Given the description of an element on the screen output the (x, y) to click on. 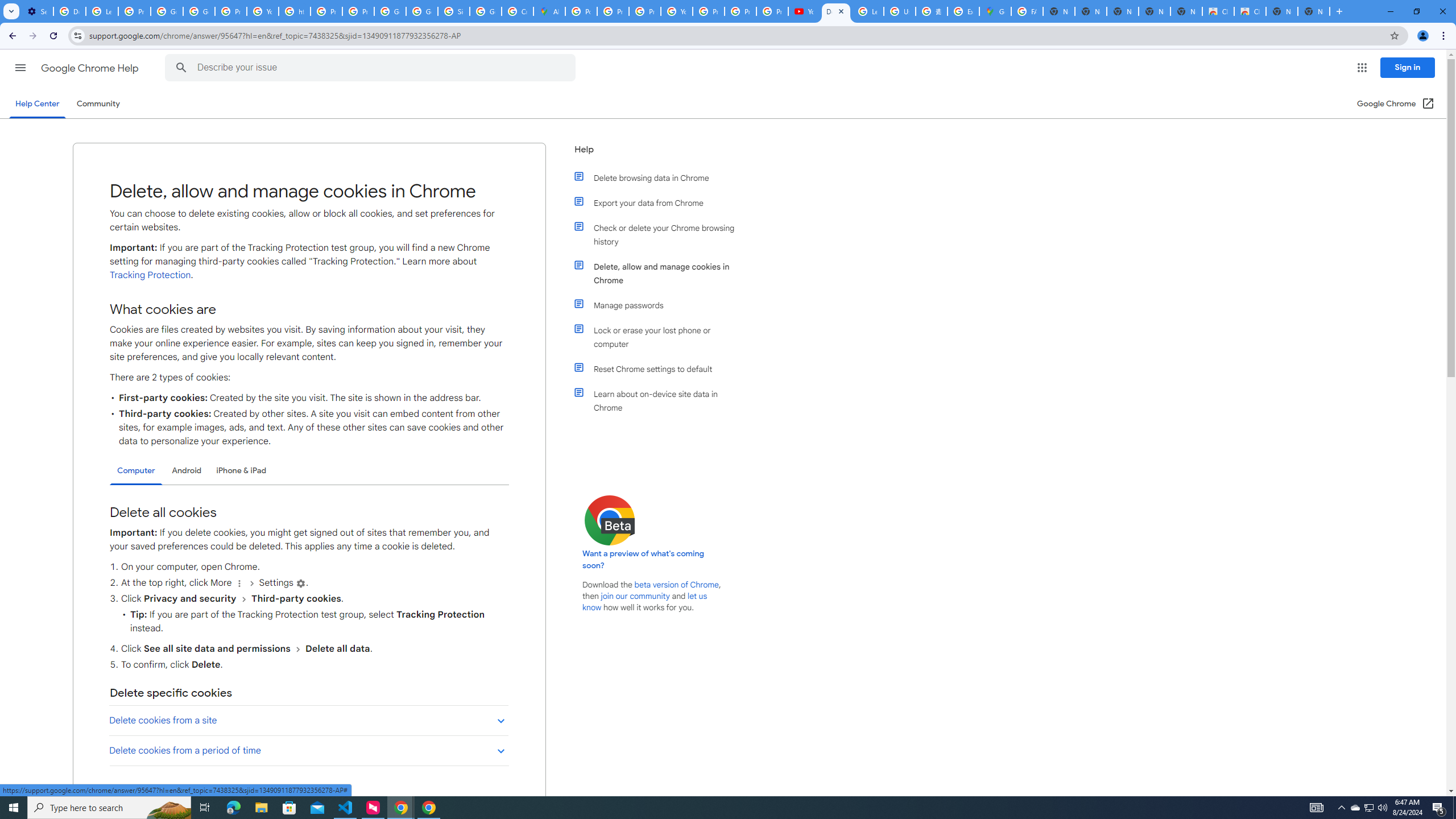
Learn about on-device site data in Chrome (661, 400)
Privacy Checkup (740, 11)
Privacy Help Center - Policies Help (613, 11)
Settings - On startup (37, 11)
Google Chrome Help (90, 68)
Explore new street-level details - Google Maps Help (963, 11)
Reset Chrome settings to default (661, 368)
Privacy Checkup (772, 11)
join our community (634, 596)
